Given the description of an element on the screen output the (x, y) to click on. 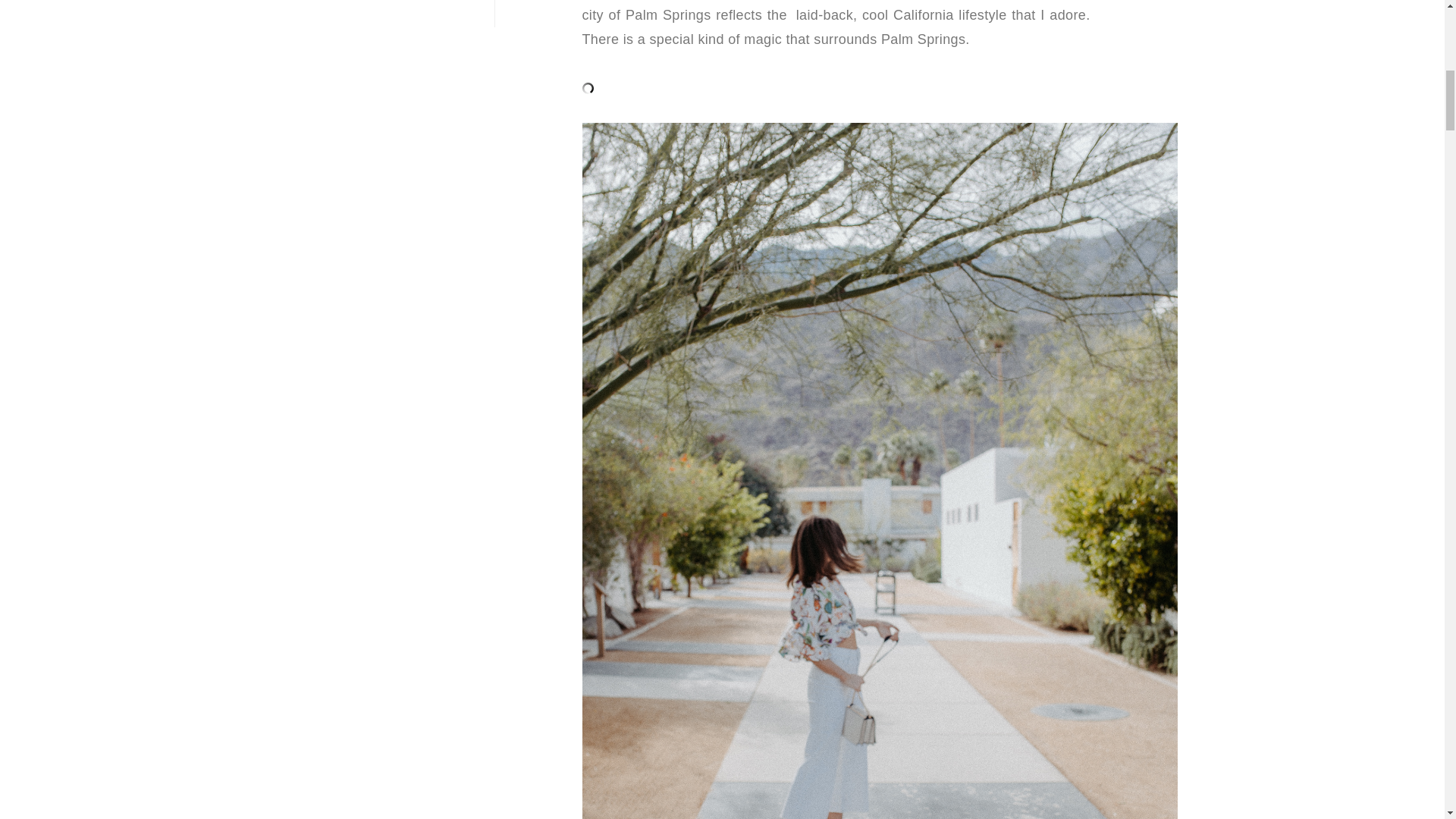
Share on Facebook (1331, 30)
Share on Email (214, 32)
Share on Pinterest (189, 32)
